Given the description of an element on the screen output the (x, y) to click on. 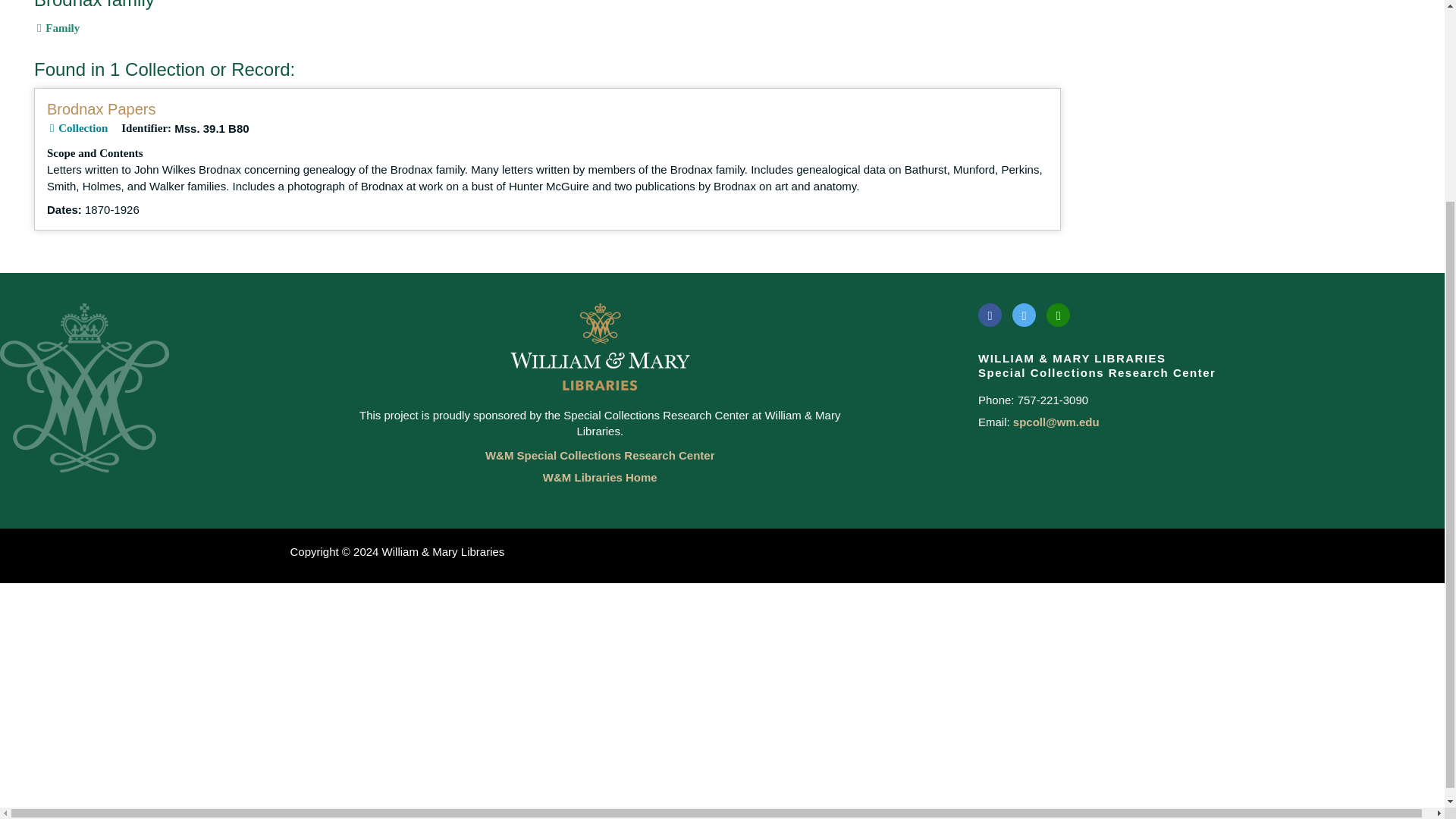
Special Collections Twitter (1023, 314)
Special Collections Facebook (989, 314)
Brodnax Papers (100, 108)
Special Collections Blog (1058, 314)
